Given the description of an element on the screen output the (x, y) to click on. 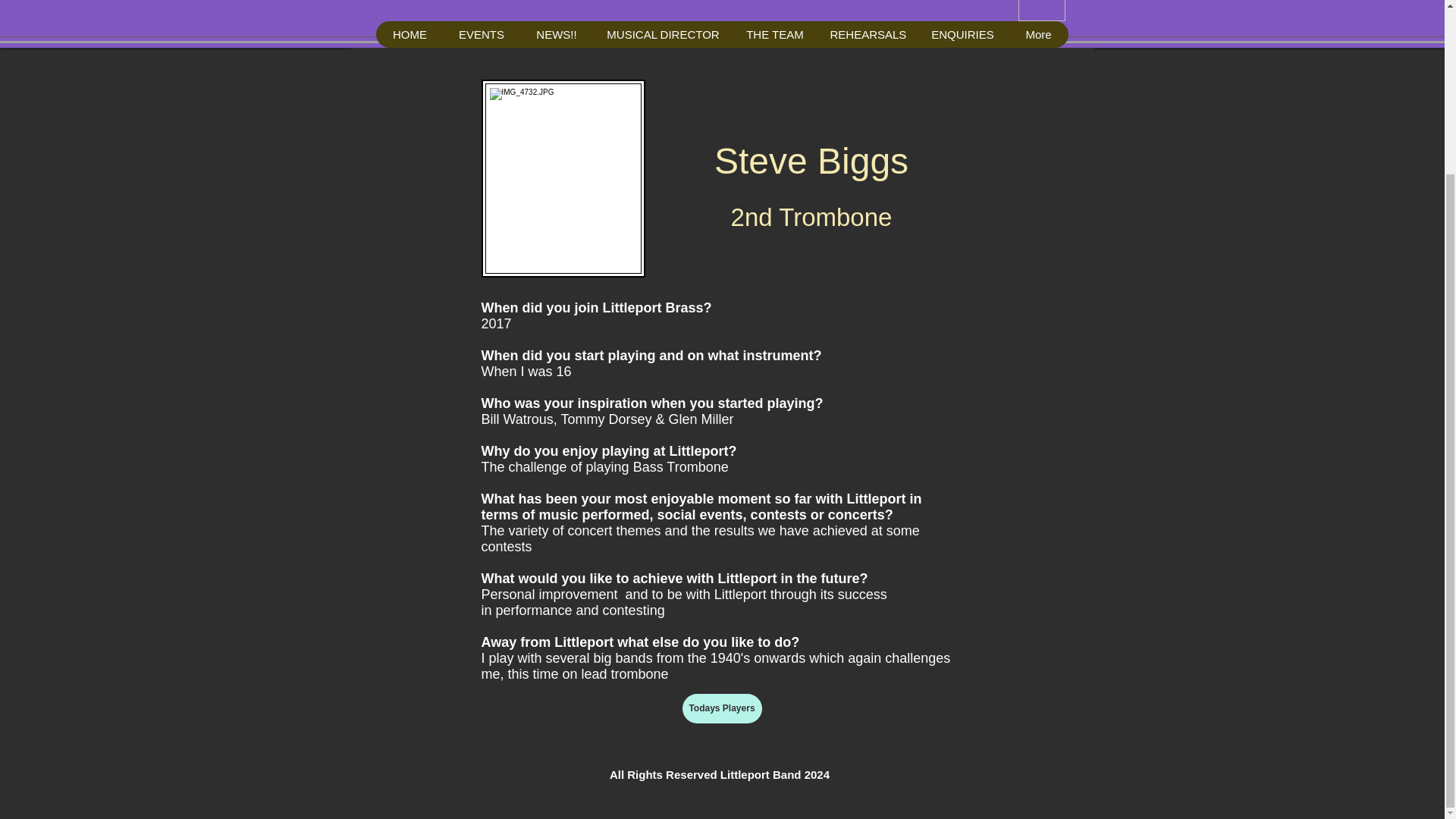
MUSICAL DIRECTOR (663, 34)
ENQUIRIES (961, 34)
HOME (409, 34)
EVENTS (481, 34)
NEWS!! (556, 34)
Todays Players (721, 708)
